Given the description of an element on the screen output the (x, y) to click on. 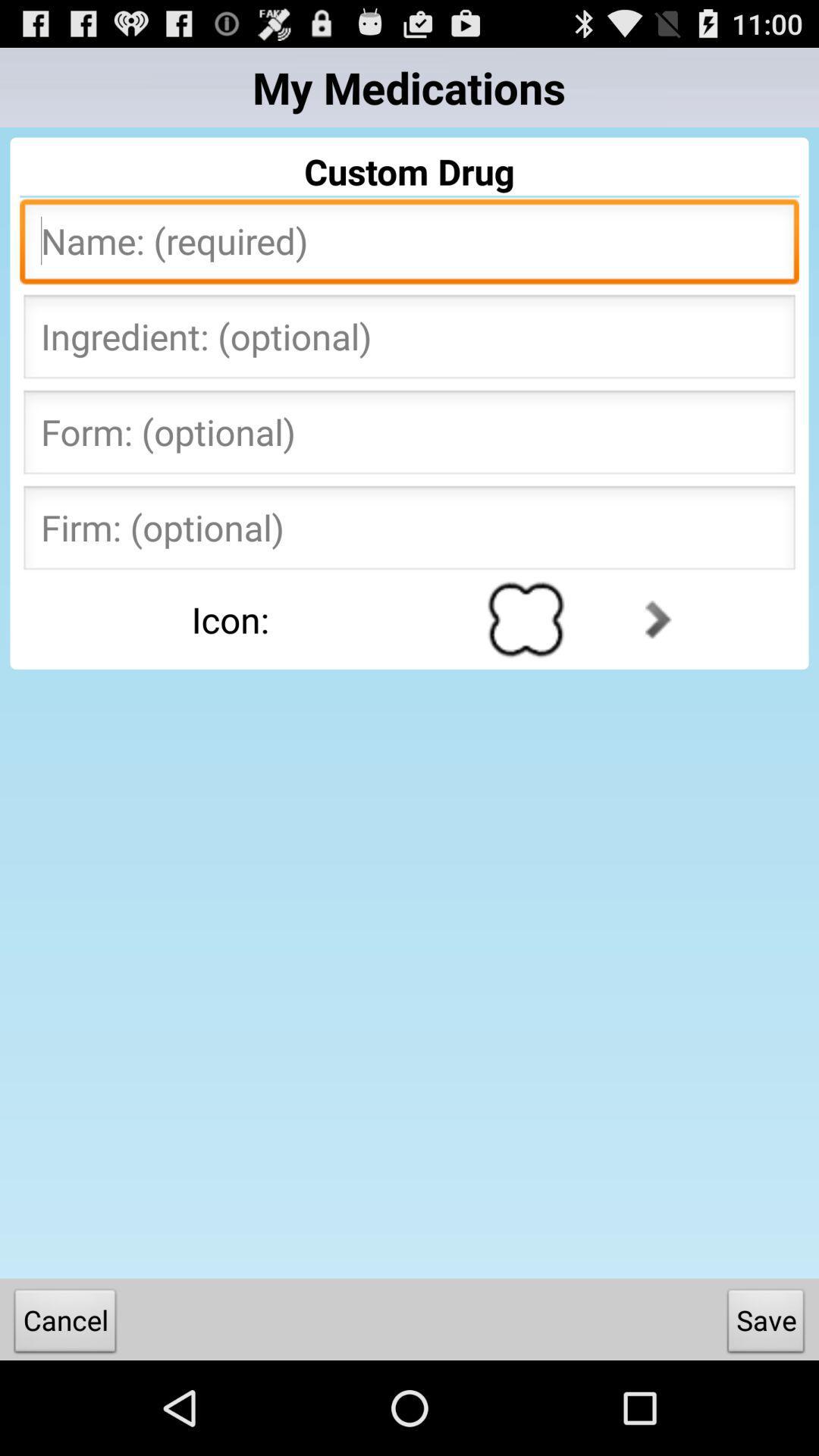
select the save (765, 1324)
